Given the description of an element on the screen output the (x, y) to click on. 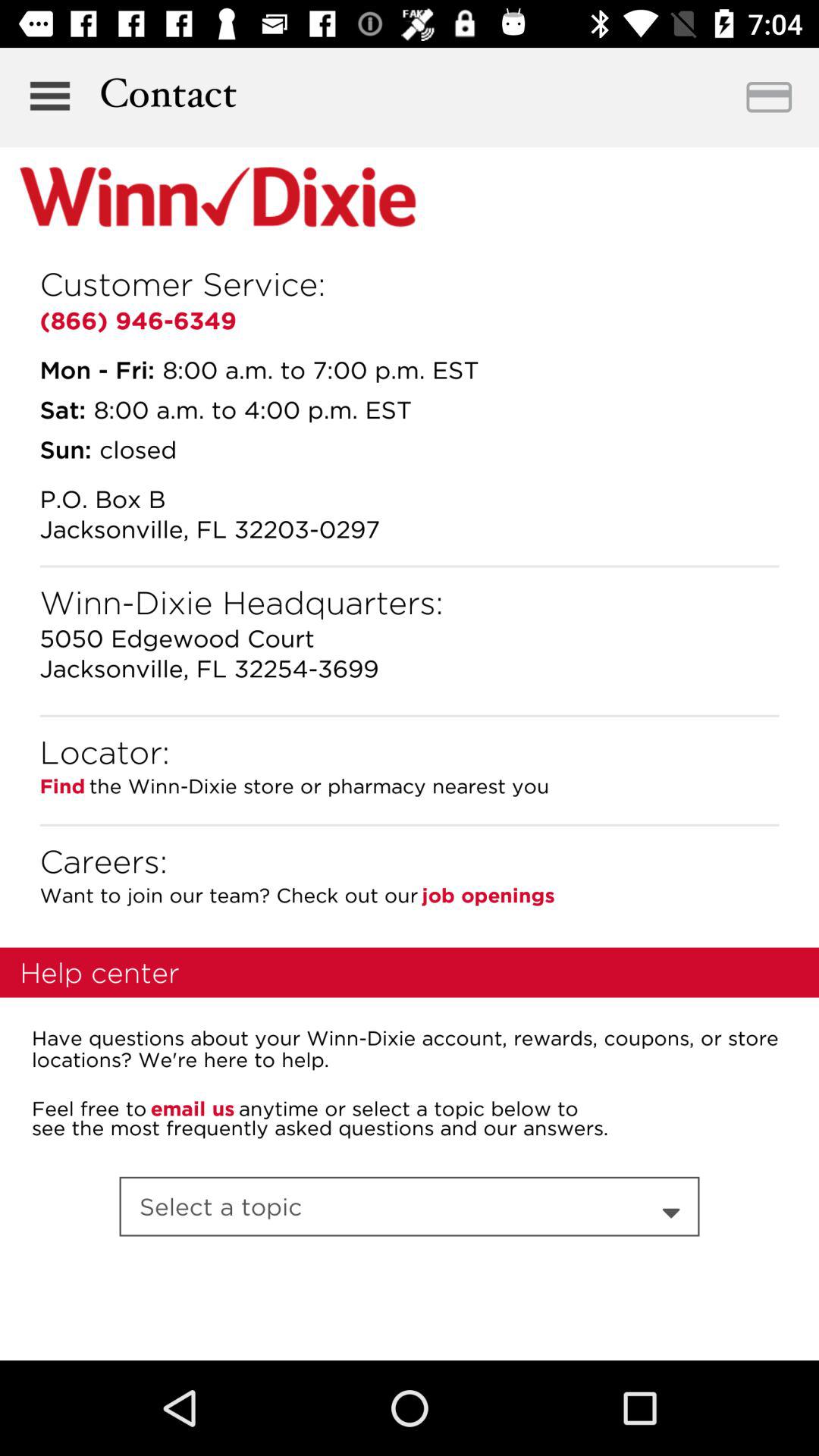
click want to join item (228, 895)
